Given the description of an element on the screen output the (x, y) to click on. 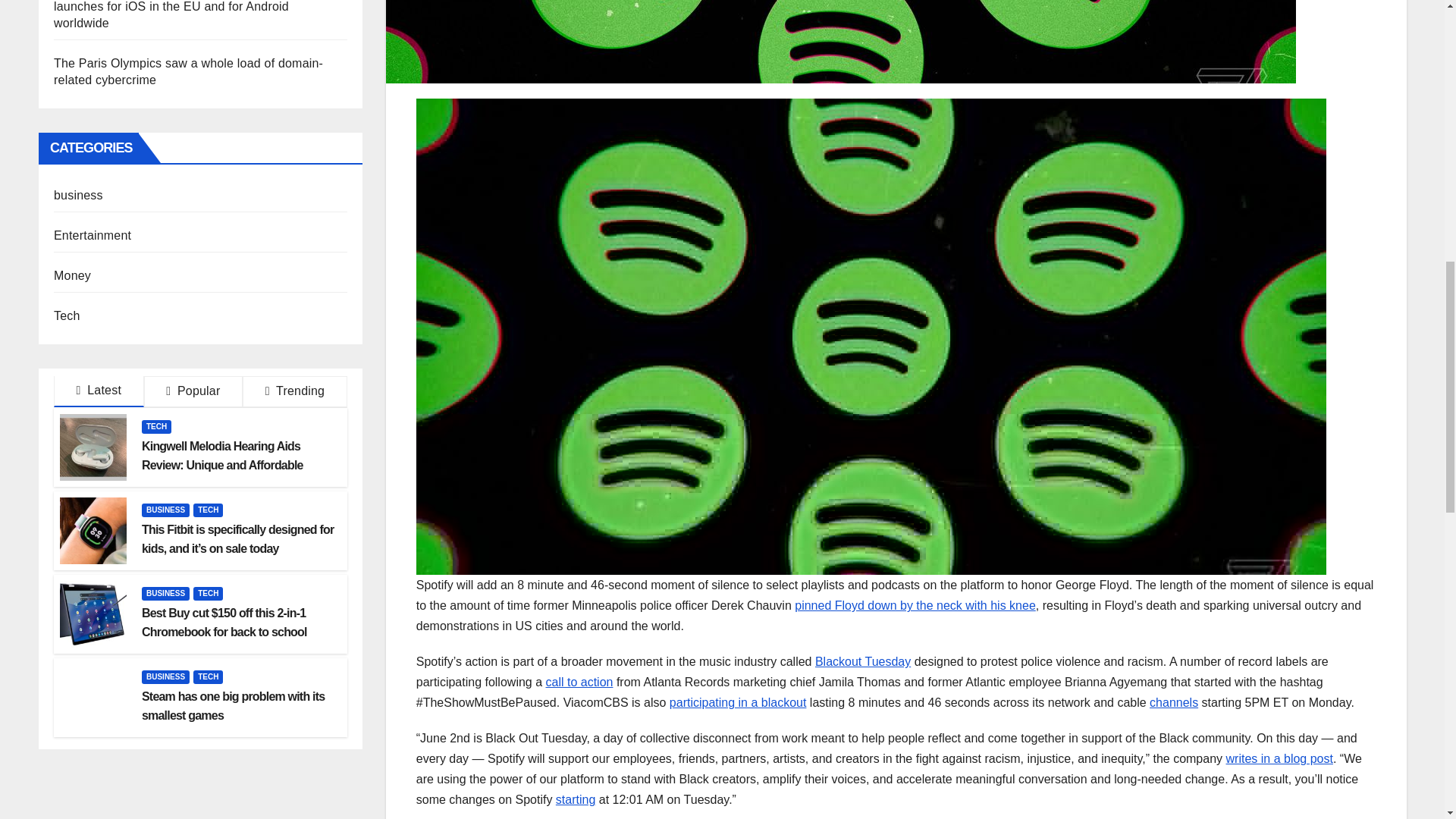
TECH (207, 509)
Money (71, 275)
Entertainment (92, 235)
Kingwell Melodia Hearing Aids Review: Unique and Affordable (221, 455)
business (78, 195)
Popular (193, 391)
BUSINESS (165, 509)
Latest (98, 391)
